Given the description of an element on the screen output the (x, y) to click on. 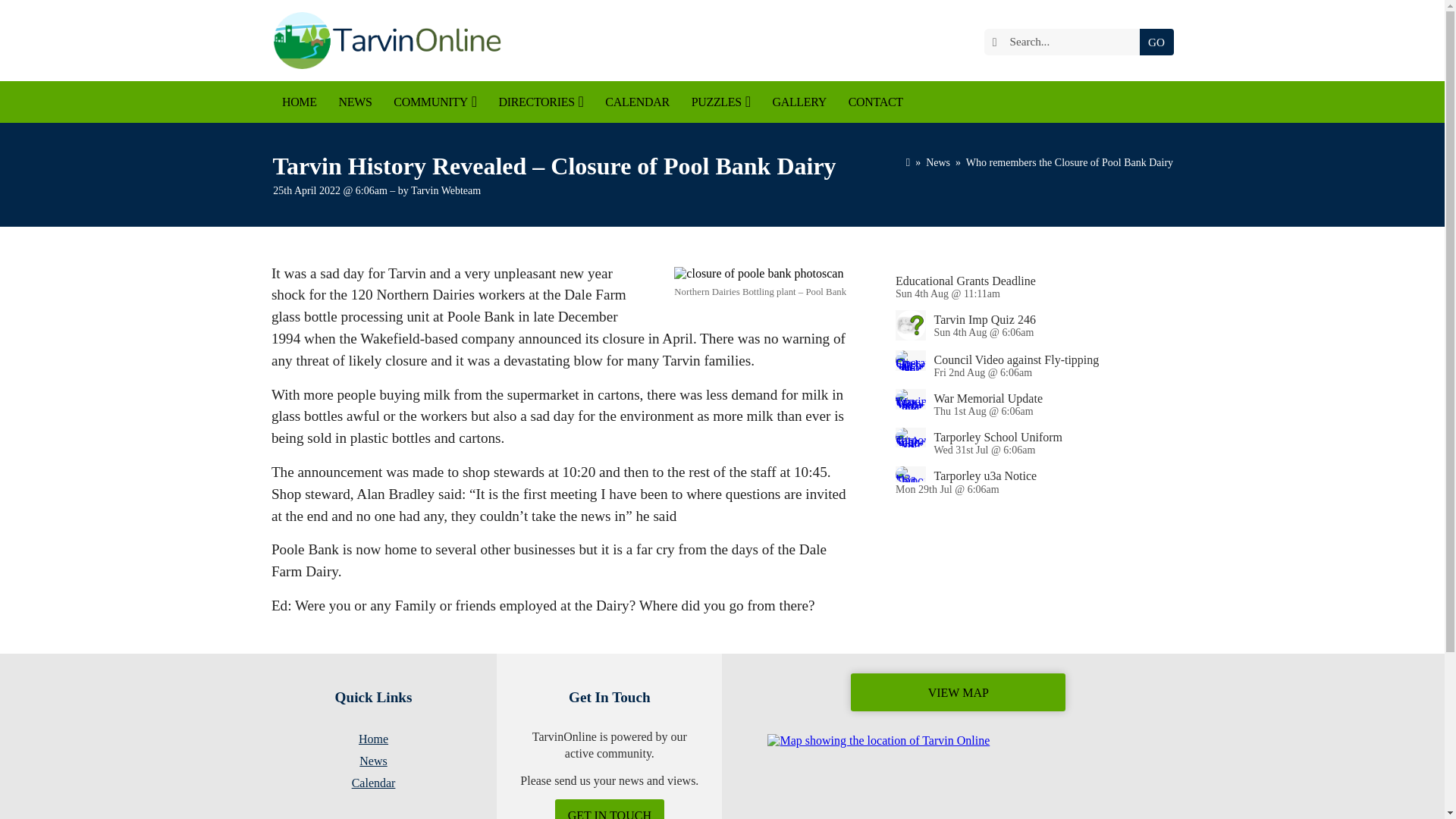
Search... (1065, 41)
News (938, 162)
COMMUNITY (434, 101)
CALENDAR (636, 101)
HOME (299, 101)
GO (1155, 41)
DIRECTORIES (540, 101)
Home (907, 162)
PUZZLES (720, 101)
NEWS (354, 101)
Tarvin Online Home (385, 40)
Visit our Facebook Page (961, 41)
GALLERY (799, 101)
CONTACT (875, 101)
